Given the description of an element on the screen output the (x, y) to click on. 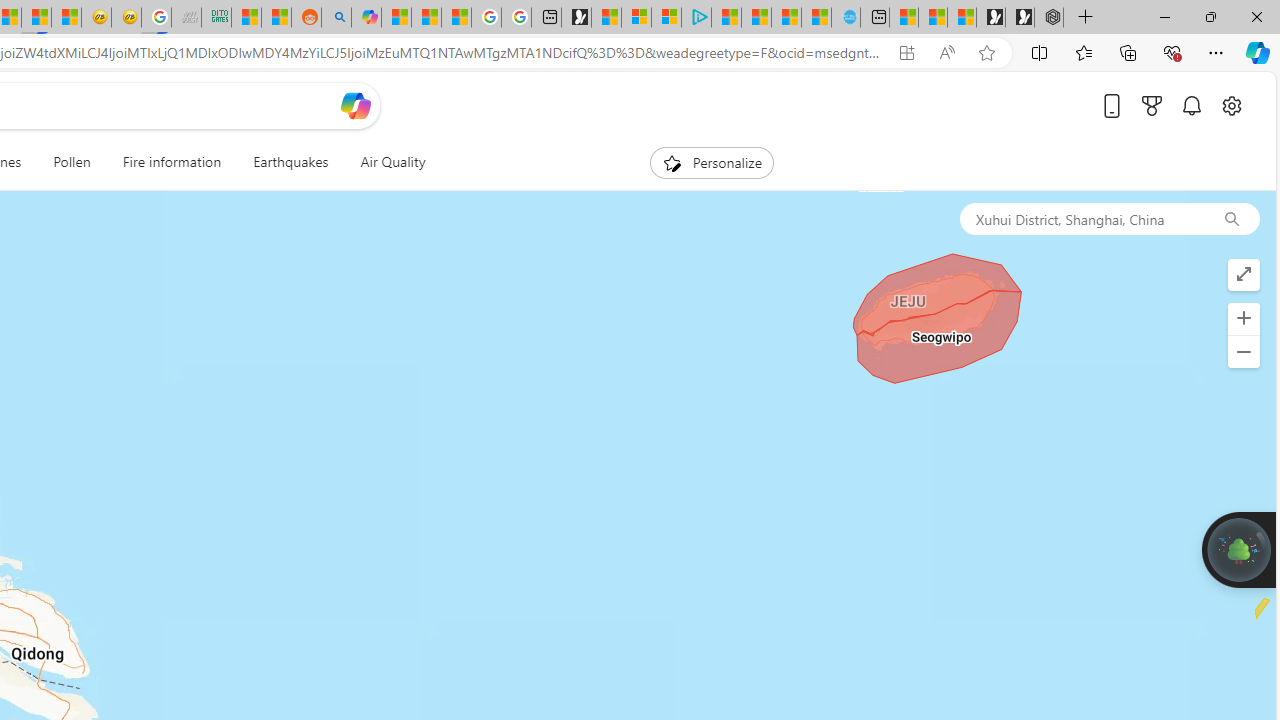
App available. Install Microsoft Start Weather (906, 53)
Zoom out (1243, 351)
Zoom in (1243, 318)
Pollen (71, 162)
